Given the description of an element on the screen output the (x, y) to click on. 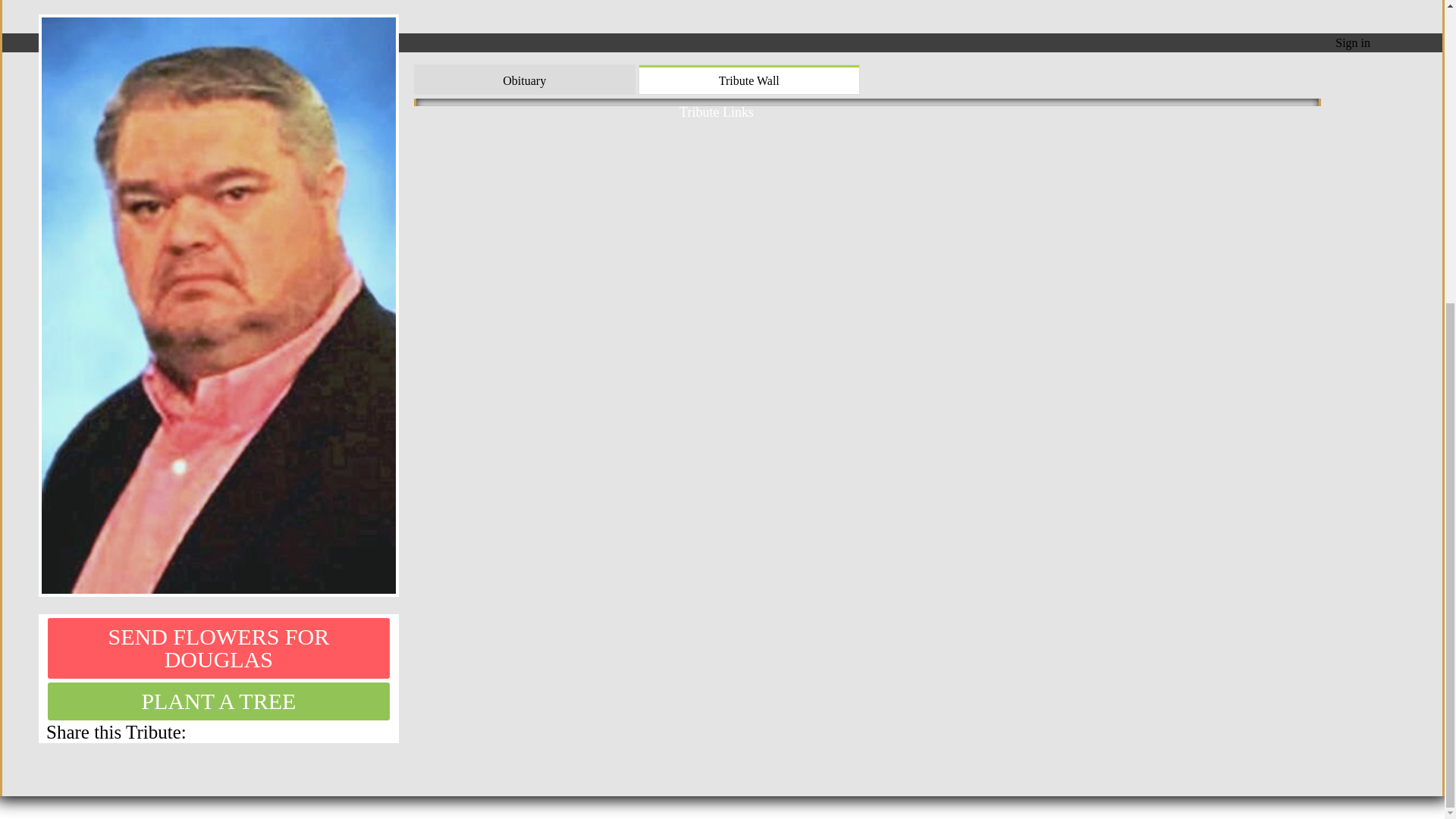
Receive Notifications (349, 731)
Obituary (524, 79)
Facebook (387, 731)
PLANT A TREE (219, 701)
Twitter (368, 731)
Tribute Wall (749, 79)
SEND FLOWERS FOR DOUGLAS (219, 648)
Sign in (1352, 42)
Tribute Links (721, 107)
Plant A Tree (219, 701)
